Given the description of an element on the screen output the (x, y) to click on. 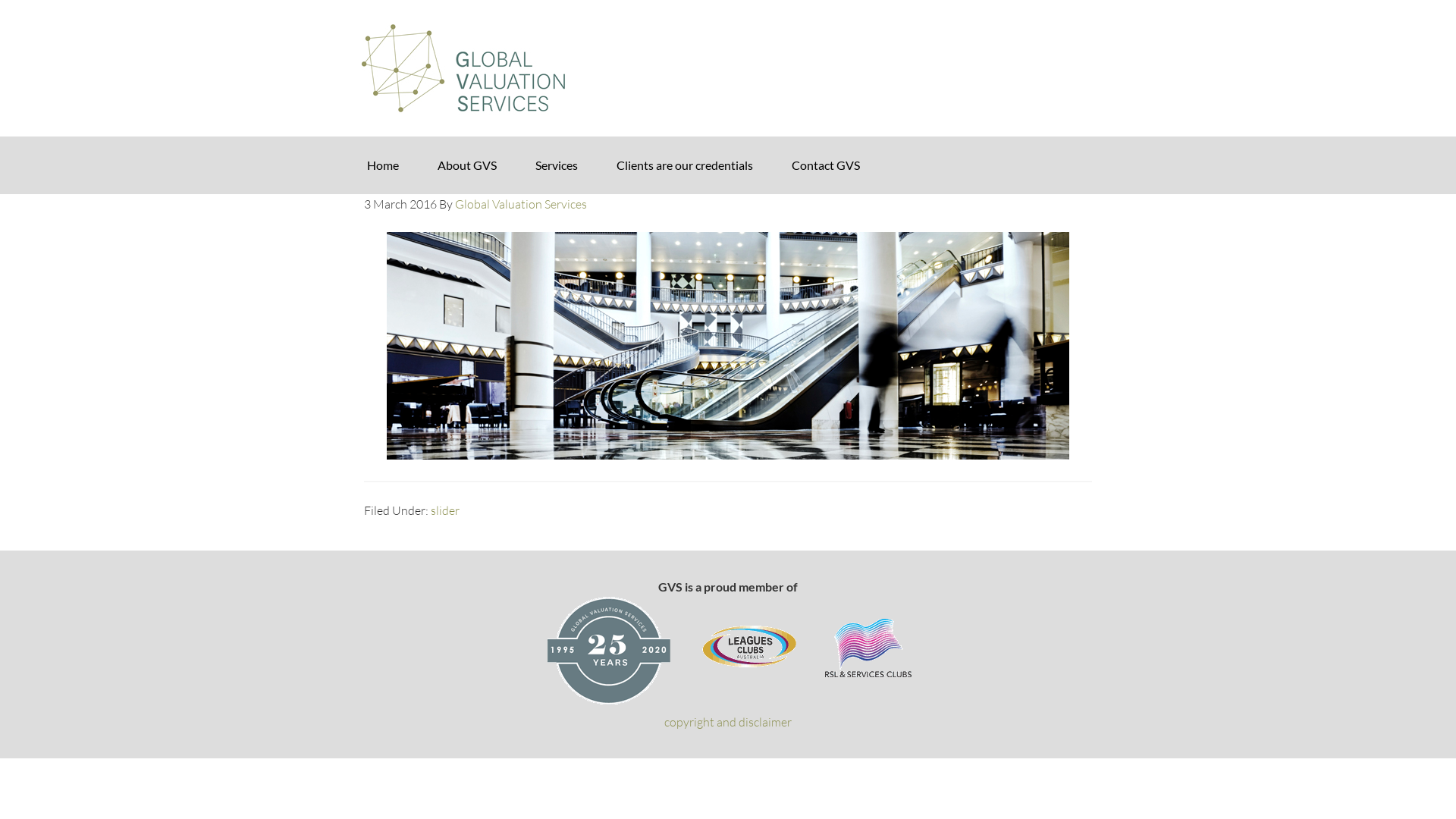
Services Element type: text (556, 165)
Global Valuation Services Element type: text (520, 203)
Home Element type: text (382, 165)
About GVS Element type: text (466, 165)
Contact GVS Element type: text (825, 165)
slider Element type: text (444, 509)
Global Valuation Services Element type: text (727, 68)
copyright and disclaimer Element type: text (727, 721)
Clients are our credentials Element type: text (684, 165)
